Given the description of an element on the screen output the (x, y) to click on. 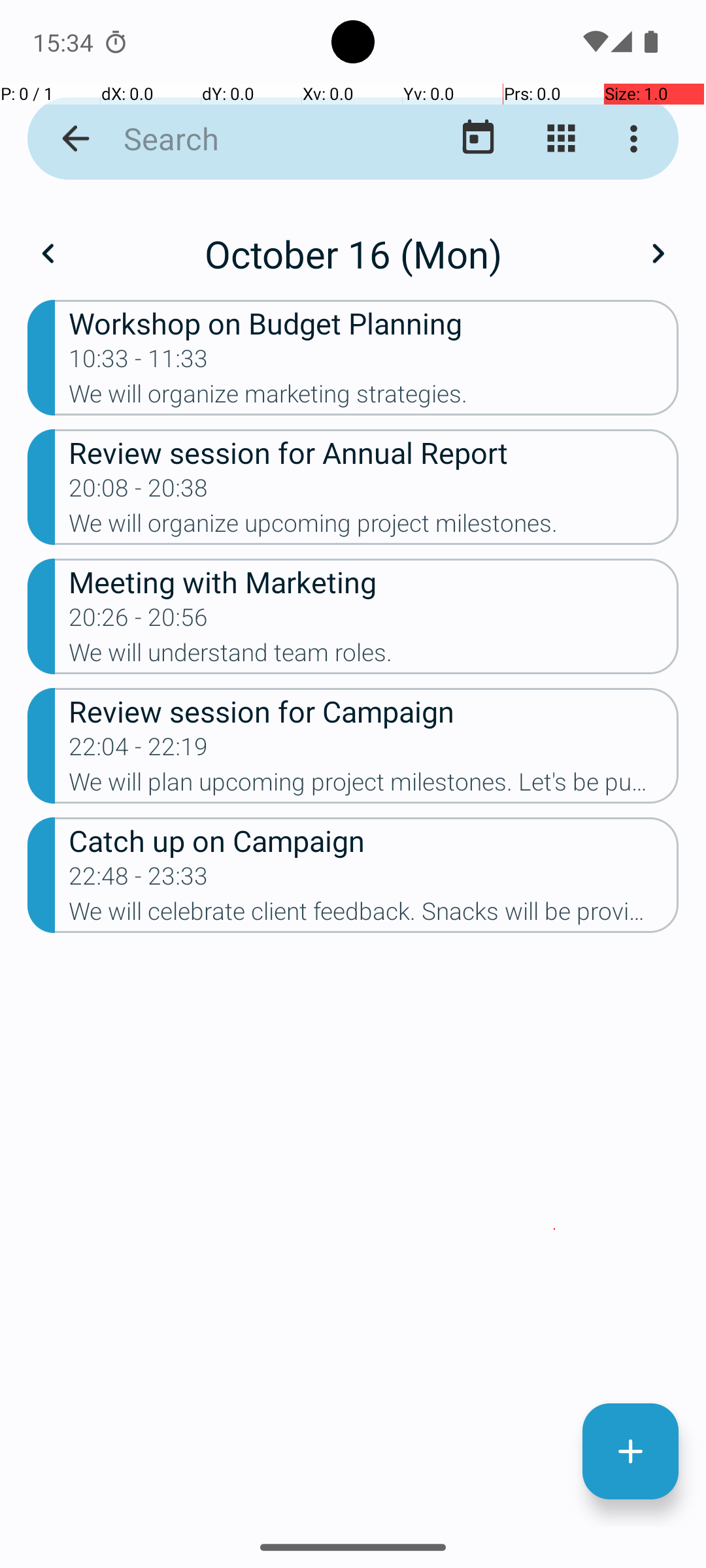
10:33 - 11:33 Element type: android.widget.TextView (137, 362)
We will organize marketing strategies. Element type: android.widget.TextView (373, 397)
20:08 - 20:38 Element type: android.widget.TextView (137, 491)
We will organize upcoming project milestones. Element type: android.widget.TextView (373, 526)
20:26 - 20:56 Element type: android.widget.TextView (137, 620)
We will understand team roles. Element type: android.widget.TextView (373, 656)
22:04 - 22:19 Element type: android.widget.TextView (137, 750)
We will plan upcoming project milestones. Let's be punctual. Element type: android.widget.TextView (373, 785)
22:48 - 23:33 Element type: android.widget.TextView (137, 879)
We will celebrate client feedback. Snacks will be provided. Element type: android.widget.TextView (373, 914)
